Given the description of an element on the screen output the (x, y) to click on. 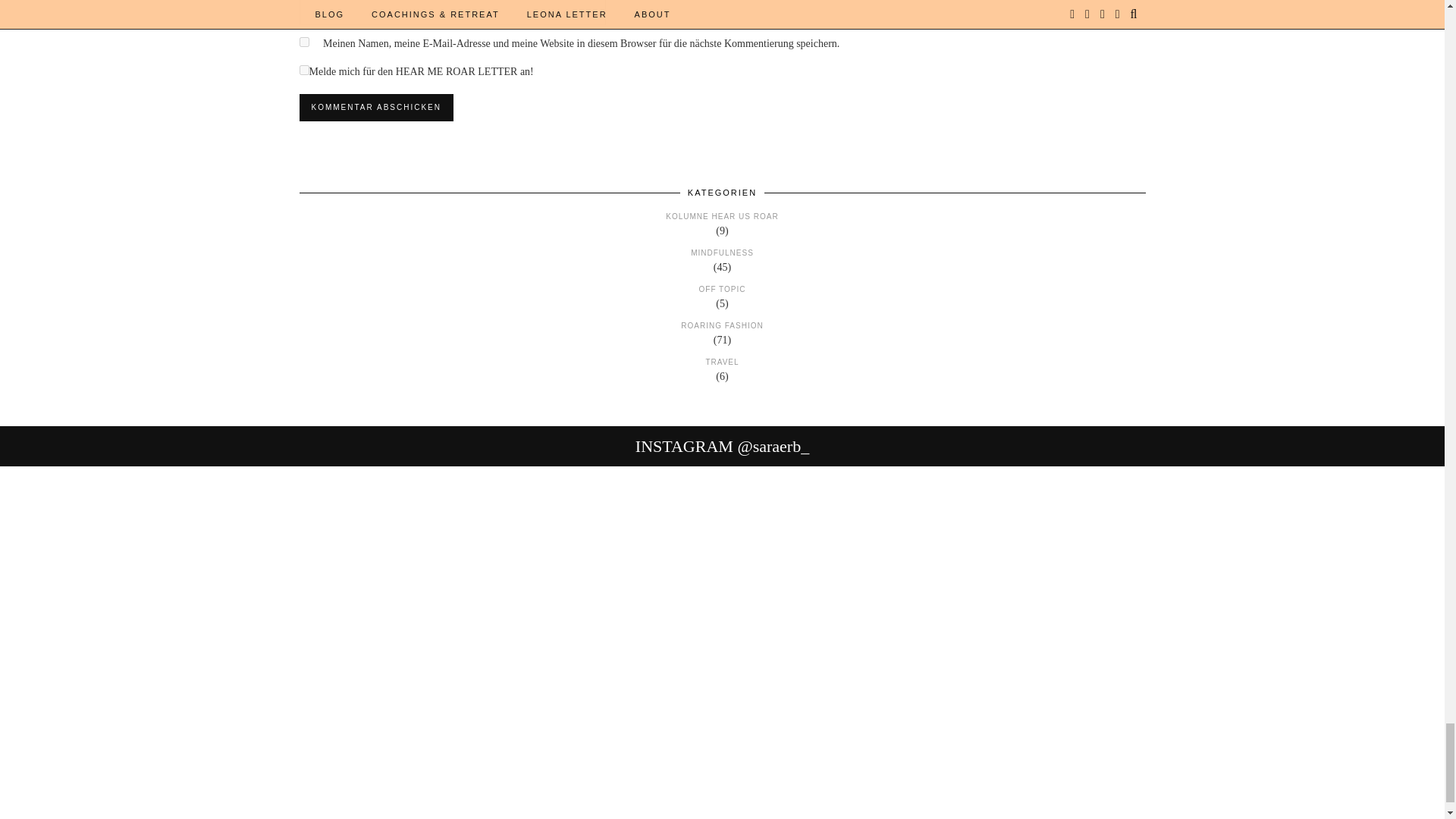
yes (303, 41)
Kommentar abschicken (375, 107)
1 (303, 70)
